Given the description of an element on the screen output the (x, y) to click on. 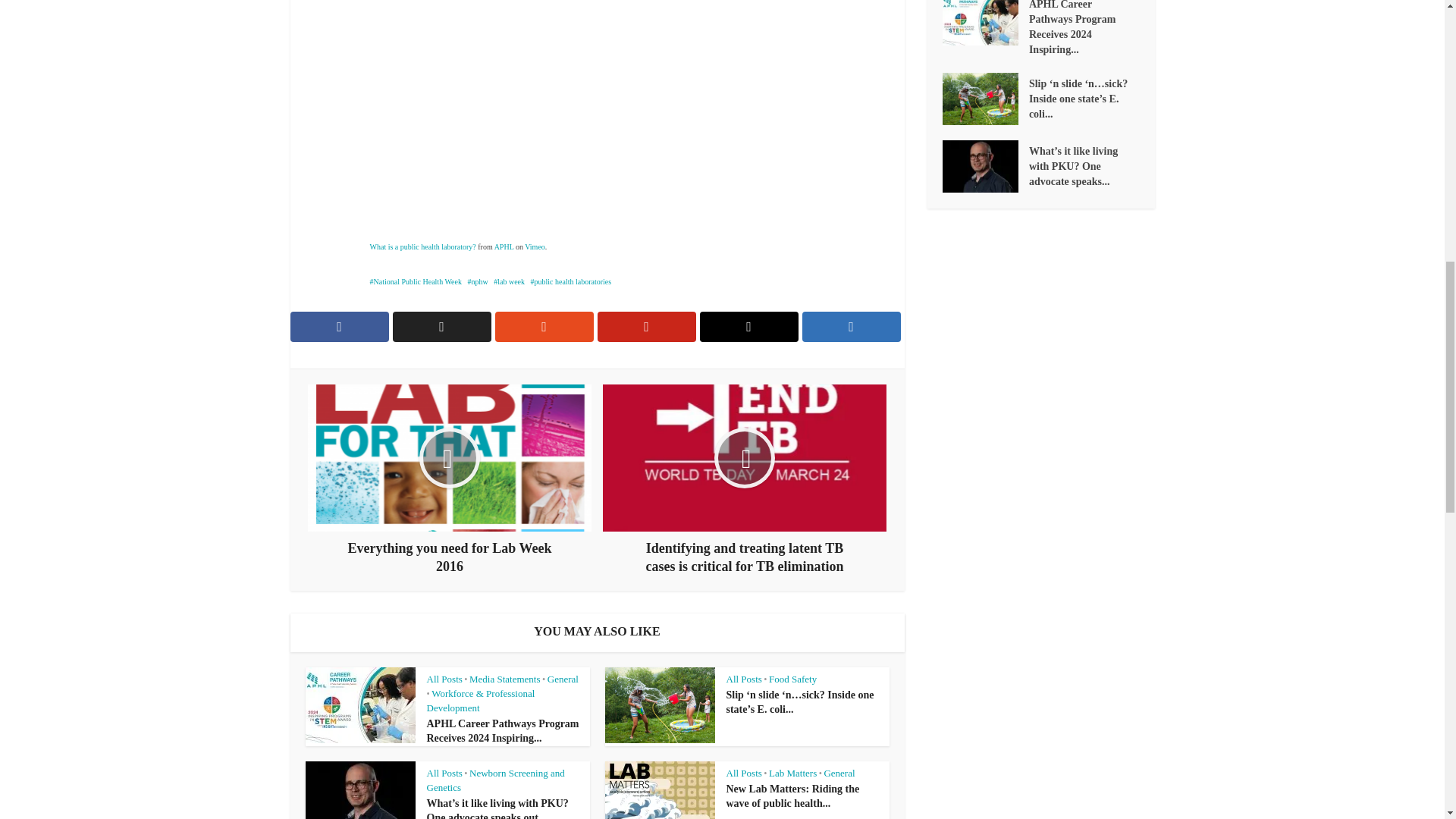
lab week (508, 281)
APHL Career Pathways Program Receives 2024 Inspiring... (502, 730)
All Posts (443, 678)
National Public Health Week (415, 281)
Everything you need for Lab Week 2016 (449, 479)
nphw (477, 281)
Vimeo (534, 246)
What is a public health laboratory? (422, 246)
Media Statements (504, 678)
APHL (504, 246)
General (562, 678)
public health laboratories (571, 281)
